Given the description of an element on the screen output the (x, y) to click on. 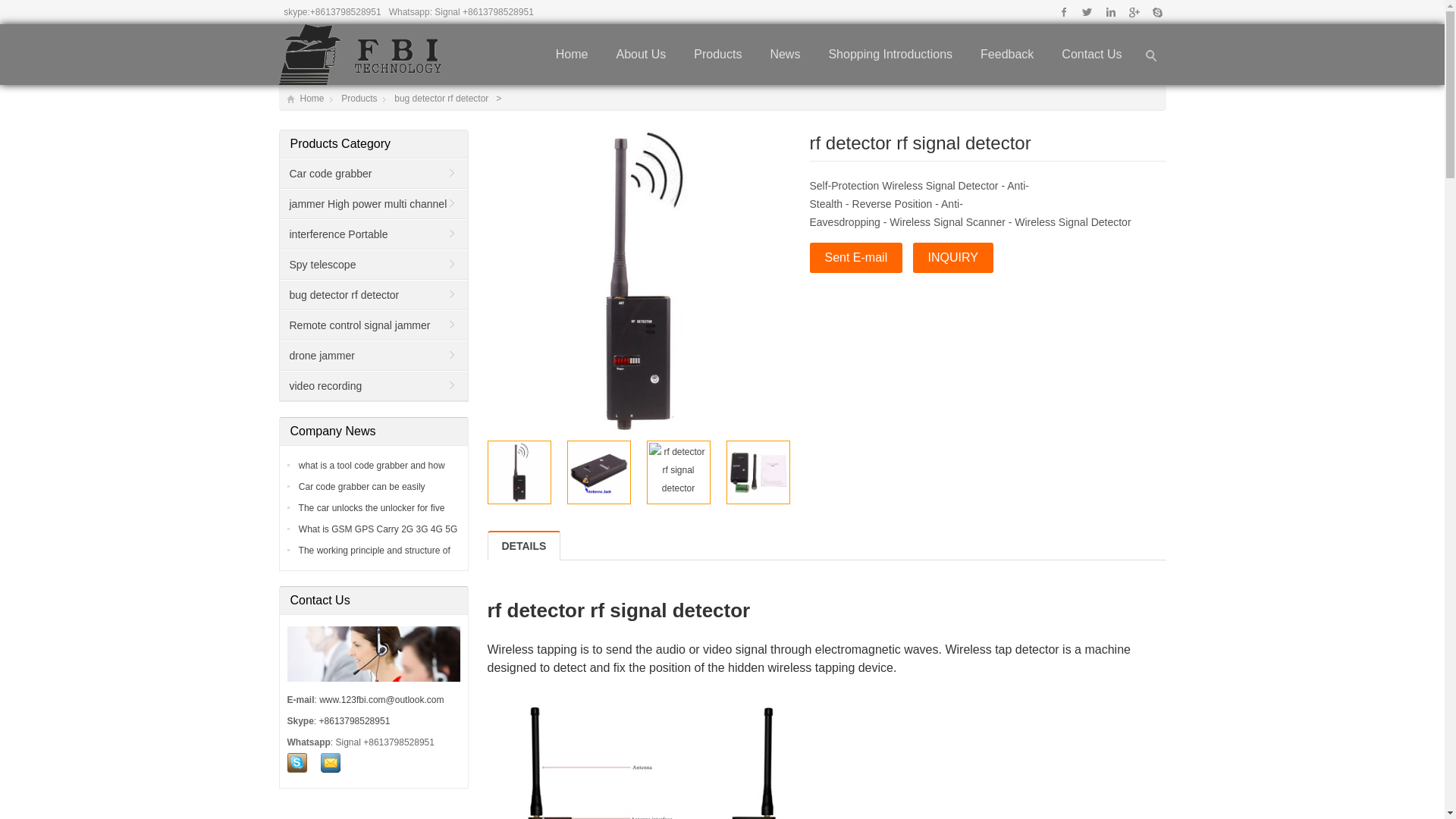
Skype Element type: text (1155, 12)
 rf detector rf signal detector	 Element type: hover (677, 470)
 rf detector rf signal detector	 Element type: hover (598, 472)
drone jammer Element type: text (373, 355)
bug detector rf detector Element type: text (442, 98)
contact us Element type: hover (296, 762)
Sent E-mail Element type: text (856, 257)
bug detector rf detector Element type: text (373, 295)
INQUIRY Element type: text (953, 257)
Feedback Element type: text (1006, 54)
+8613798528951 Element type: text (345, 11)
Twitter Element type: text (1086, 12)
 What is GSM GPS Carry 2G 3G 4G 5G XM UHF VHF jammer? Element type: text (376, 538)
 rf detector rf signal detector	 Element type: hover (518, 472)
Linkedin Element type: text (1110, 12)
 rf detector rf signal detector	 Element type: hover (758, 472)
jammer High power multi channel Element type: text (373, 204)
Products Category Element type: text (378, 143)
News Element type: text (784, 54)
contact us Element type: hover (324, 762)
Car code grabber Element type: text (373, 173)
Google+ Element type: text (1132, 12)
Home Element type: text (305, 98)
 The working principle and structure of the car decoder Element type: text (372, 559)
video recording Element type: text (373, 386)
Home Element type: text (572, 54)
interference Portable Element type: text (373, 234)
Shopping Introductions Element type: text (890, 54)
About Us Element type: text (640, 54)
 what is a tool code grabber and how does it work Element type: text (369, 474)
Spy telescope Element type: text (373, 264)
Contact Us Element type: text (1091, 54)
Products Element type: text (358, 98)
+8613798528951 Element type: text (354, 720)
Facebook Element type: text (1063, 12)
Remote control signal jammer Element type: text (373, 325)
Products Element type: text (717, 54)
www.123fbi.com@outlook.com Element type: text (381, 699)
